Given the description of an element on the screen output the (x, y) to click on. 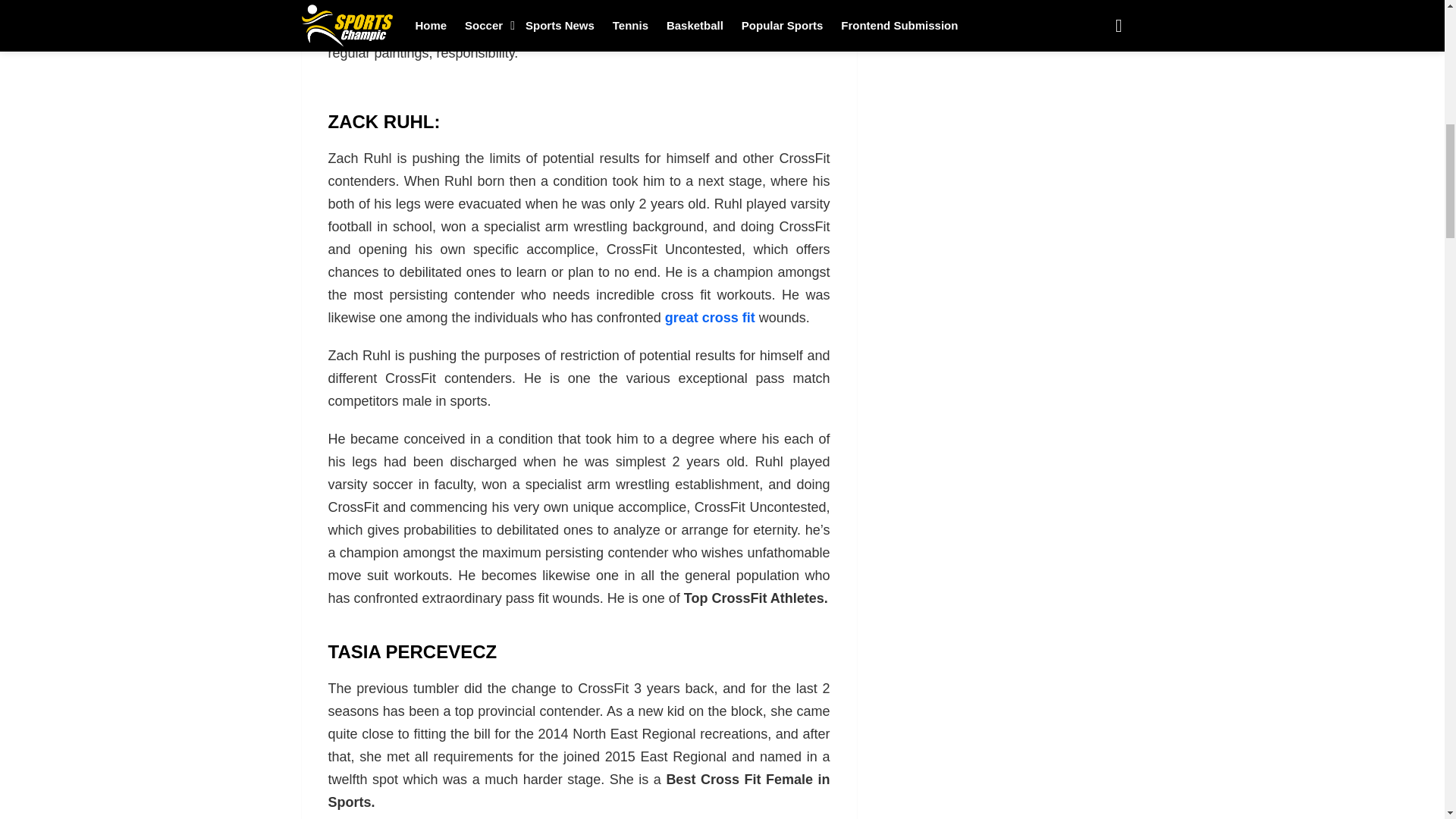
great cross fit (710, 317)
